Given the description of an element on the screen output the (x, y) to click on. 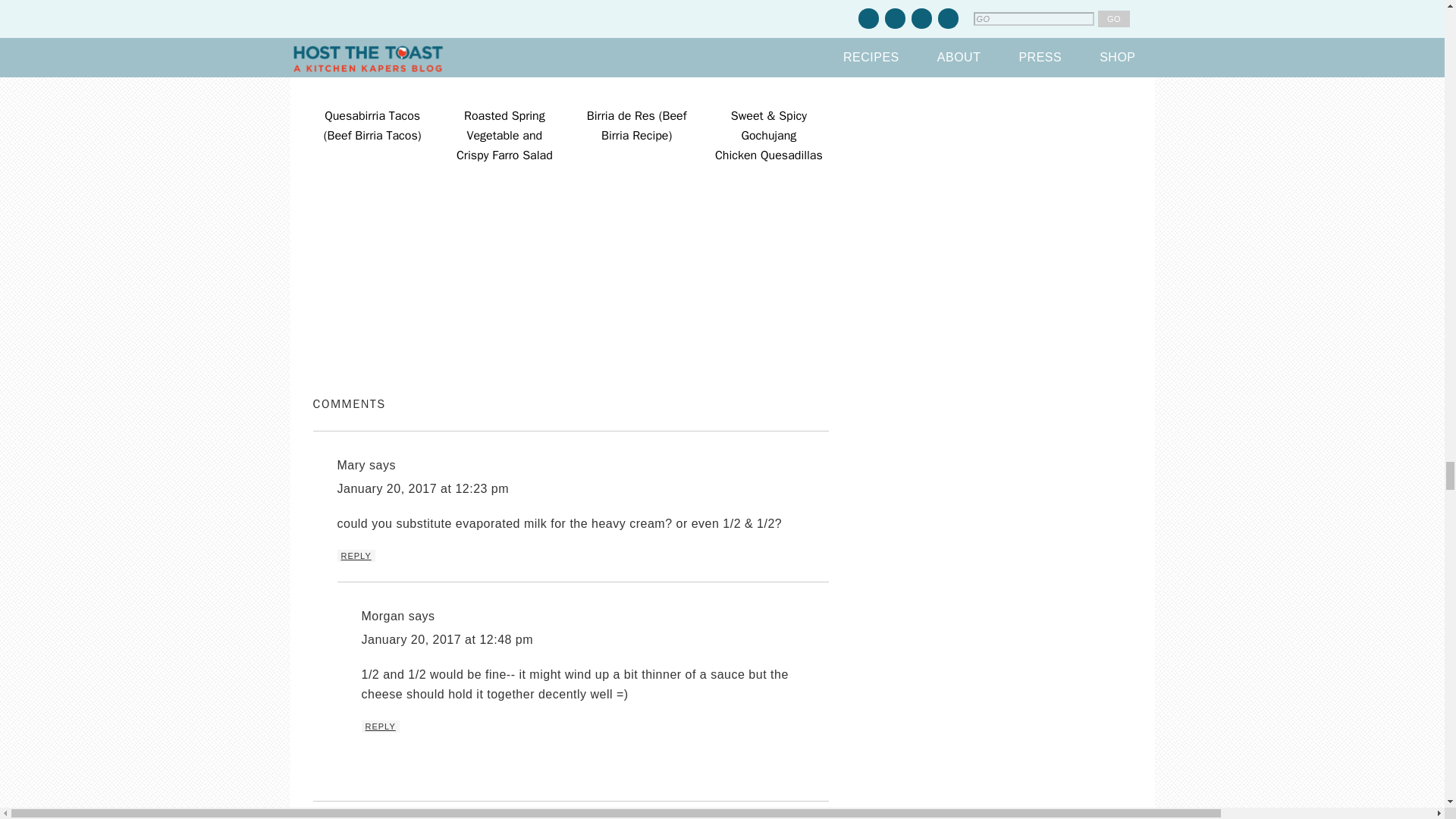
REPLY (355, 555)
REPLY (379, 726)
